Given the description of an element on the screen output the (x, y) to click on. 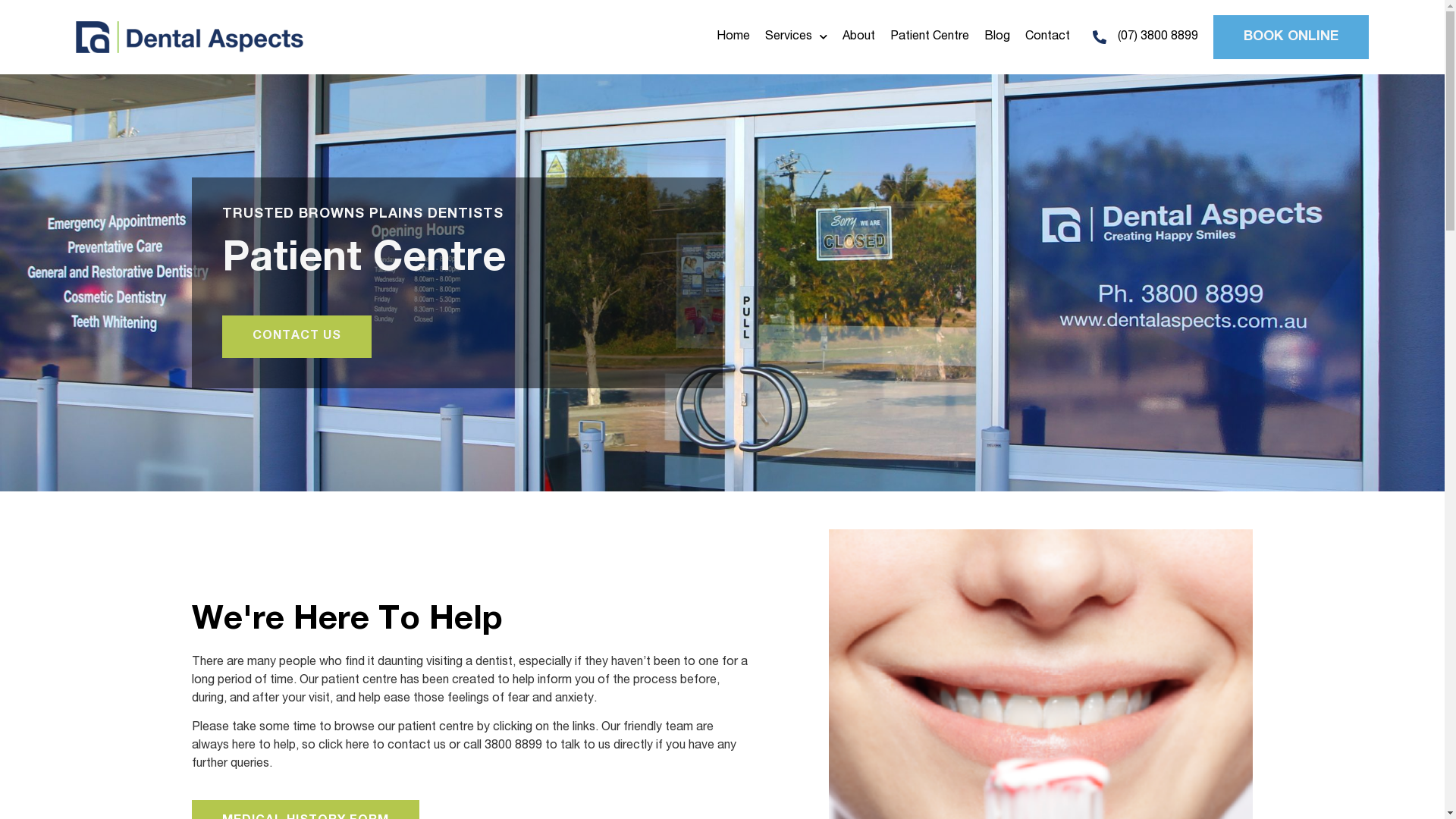
BOOK ONLINE Element type: text (1290, 37)
Contact Element type: text (1047, 36)
Services Element type: text (795, 36)
CONTACT US Element type: text (295, 336)
Home Element type: text (733, 36)
Blog Element type: text (996, 36)
(07) 3800 8899 Element type: text (1145, 37)
Patient Centre Element type: text (929, 36)
About Element type: text (858, 36)
